Given the description of an element on the screen output the (x, y) to click on. 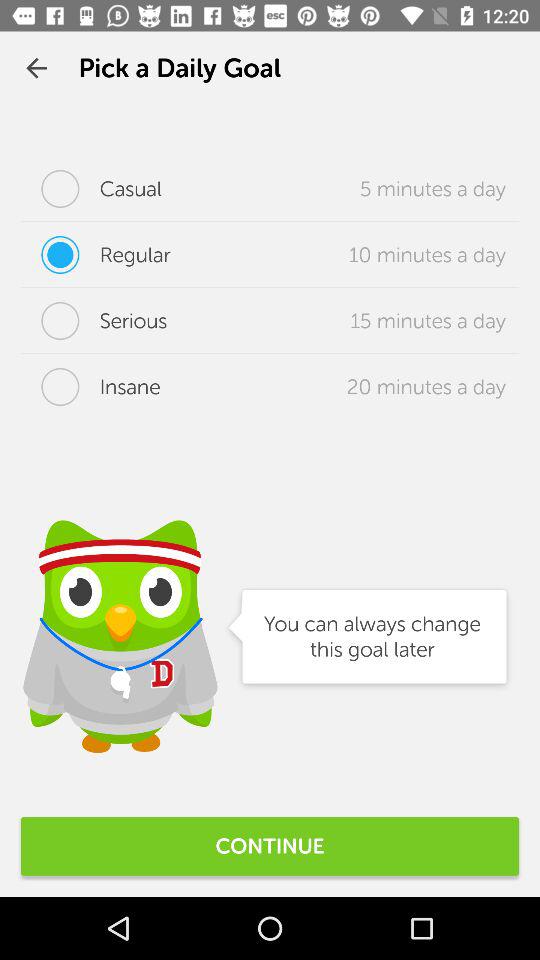
press icon below regular (94, 321)
